Given the description of an element on the screen output the (x, y) to click on. 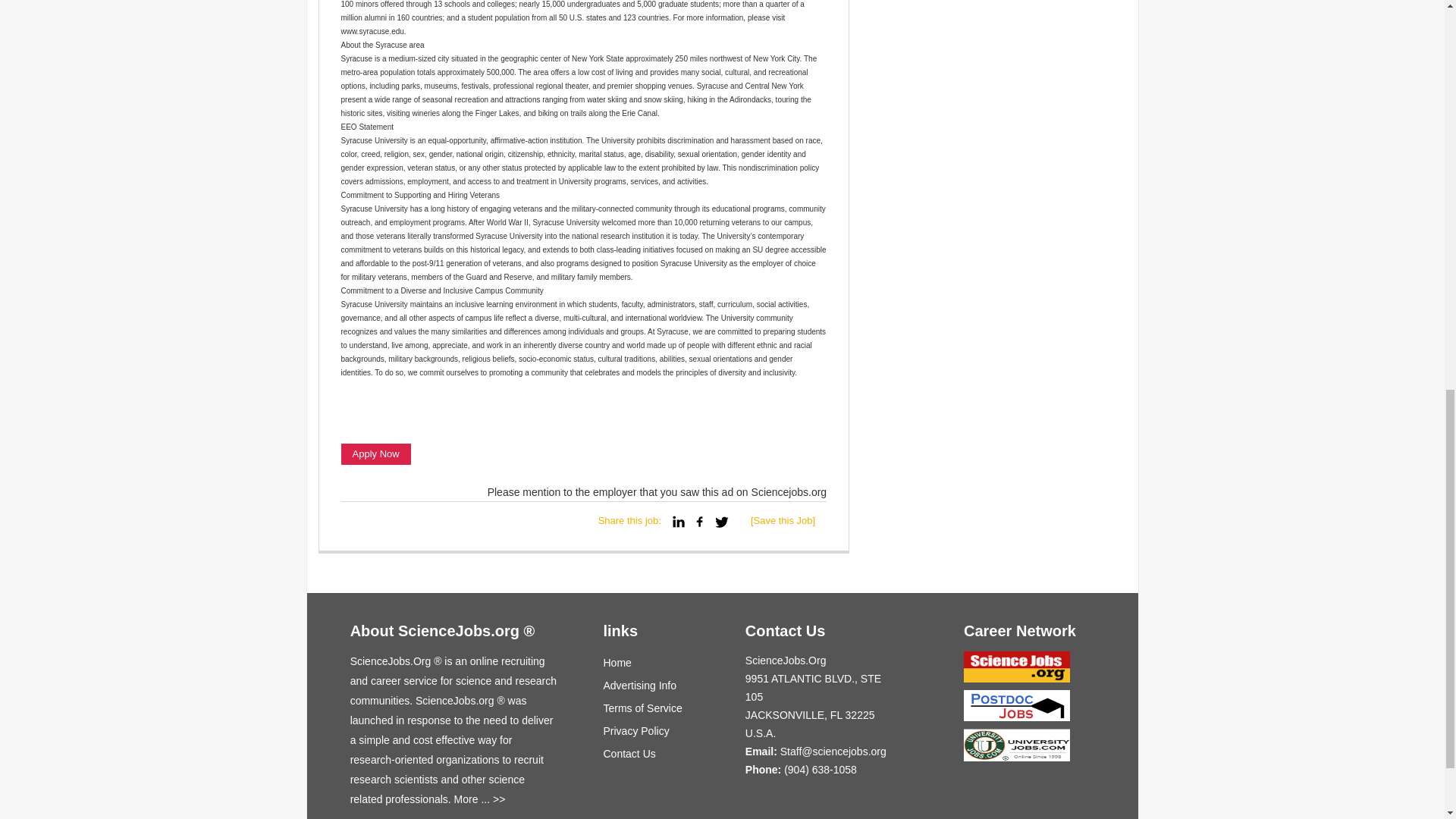
Contact Us (630, 753)
Advertising Info (640, 685)
Apply Now (375, 454)
Terms of Service (643, 708)
Home (617, 662)
Privacy Policy (636, 731)
